Given the description of an element on the screen output the (x, y) to click on. 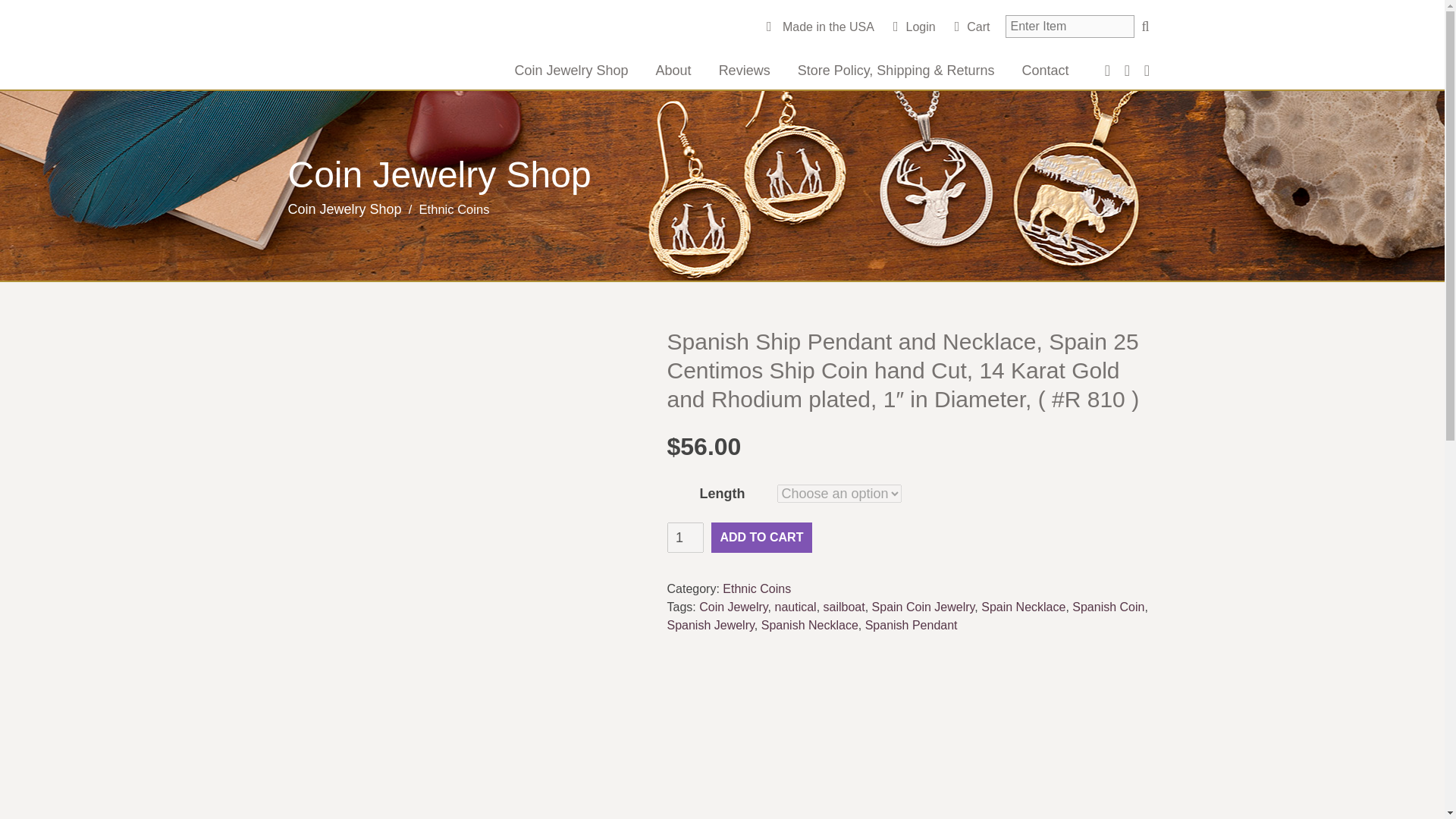
sailboat (844, 606)
nautical (794, 606)
The Difference (398, 49)
Search for: (1070, 26)
Search (1145, 26)
Ethnic Coins (756, 588)
Spanish Coin (1107, 606)
1 (684, 537)
Login (914, 26)
Contact (1044, 70)
